Given the description of an element on the screen output the (x, y) to click on. 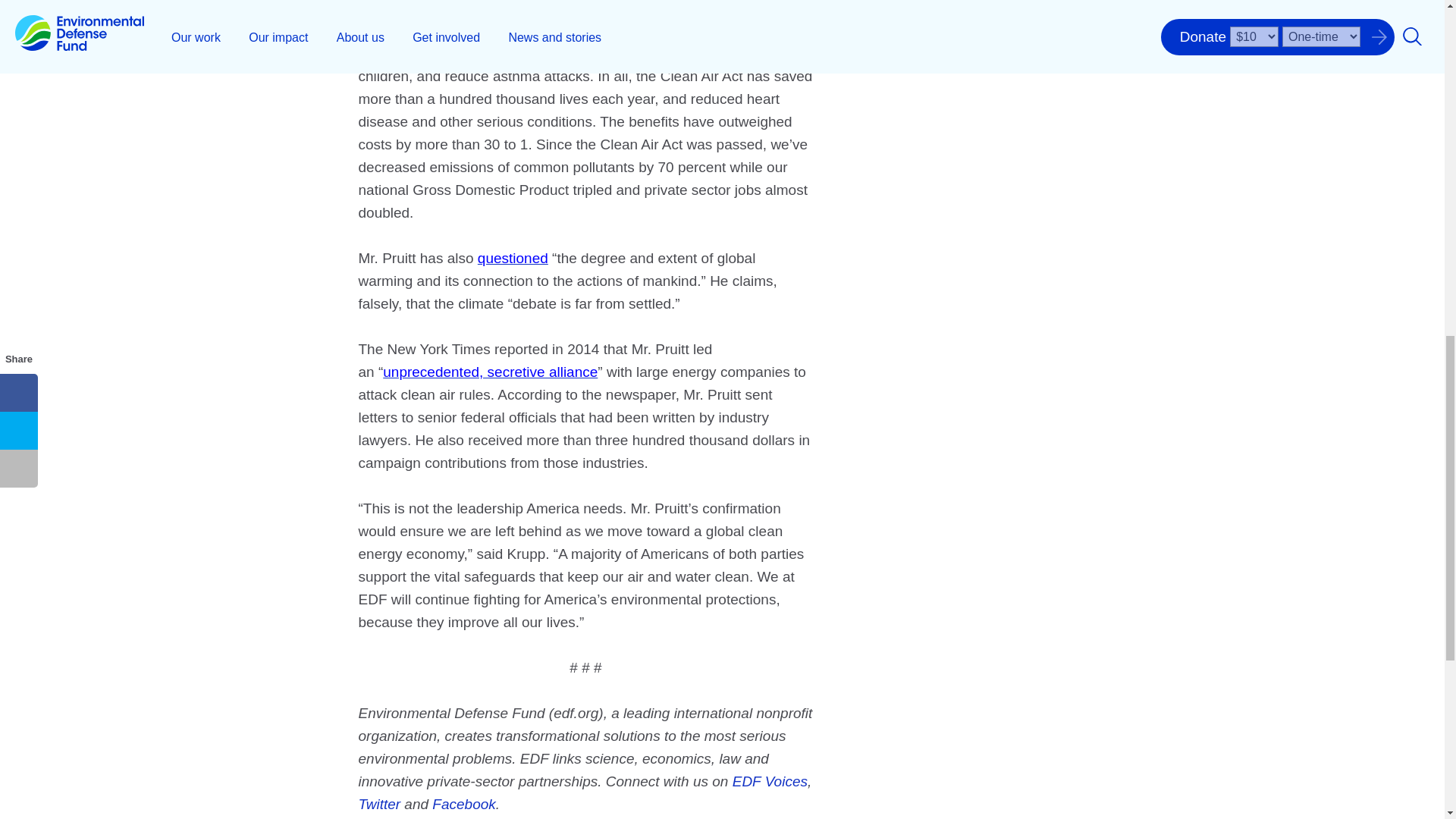
Fred Krupp (907, 15)
